Given the description of an element on the screen output the (x, y) to click on. 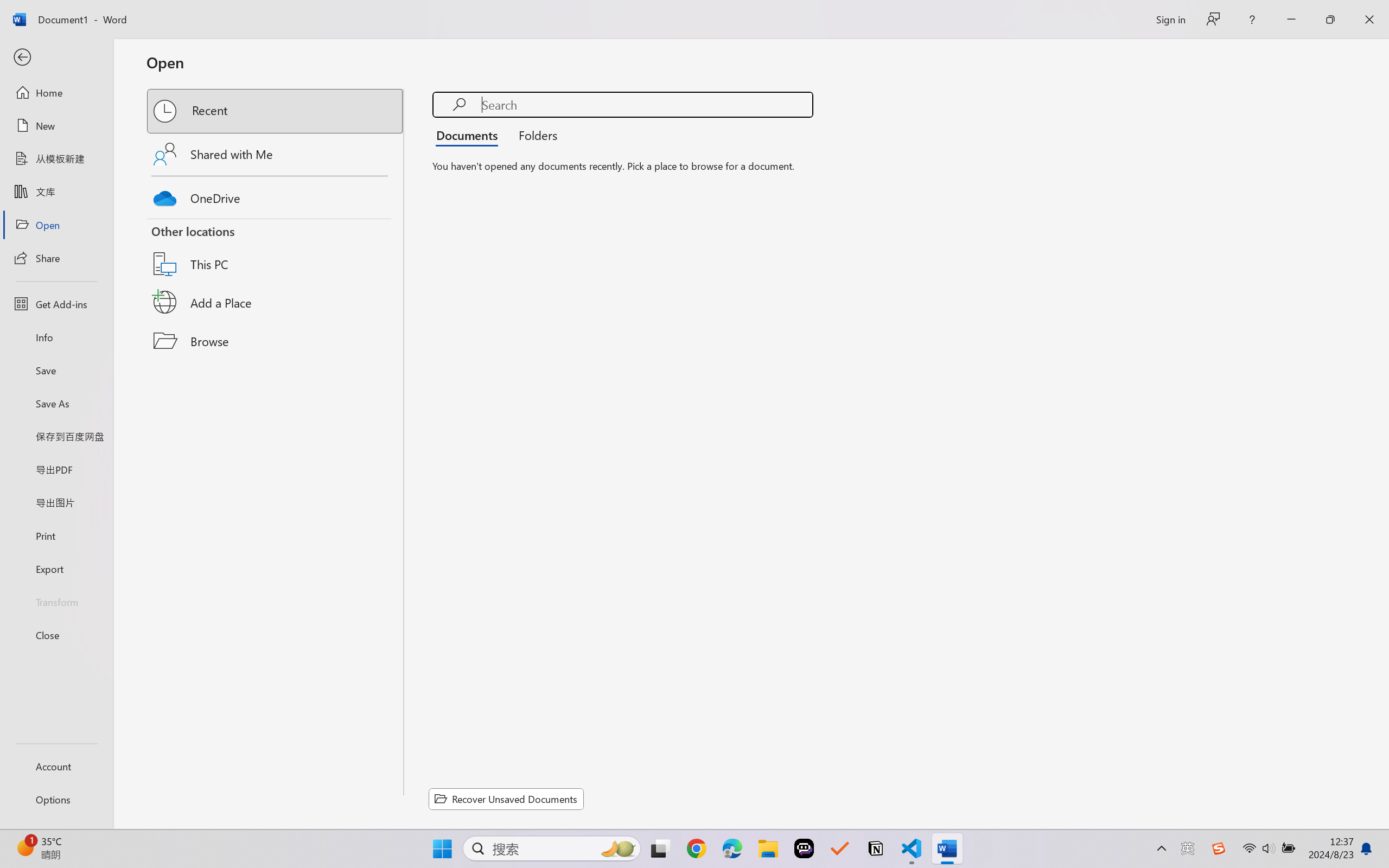
Folders (534, 134)
Recover Unsaved Documents (506, 798)
Transform (56, 601)
Back (56, 57)
New (56, 125)
Options (56, 798)
Documents (469, 134)
Shared with Me (275, 153)
Print (56, 535)
